Given the description of an element on the screen output the (x, y) to click on. 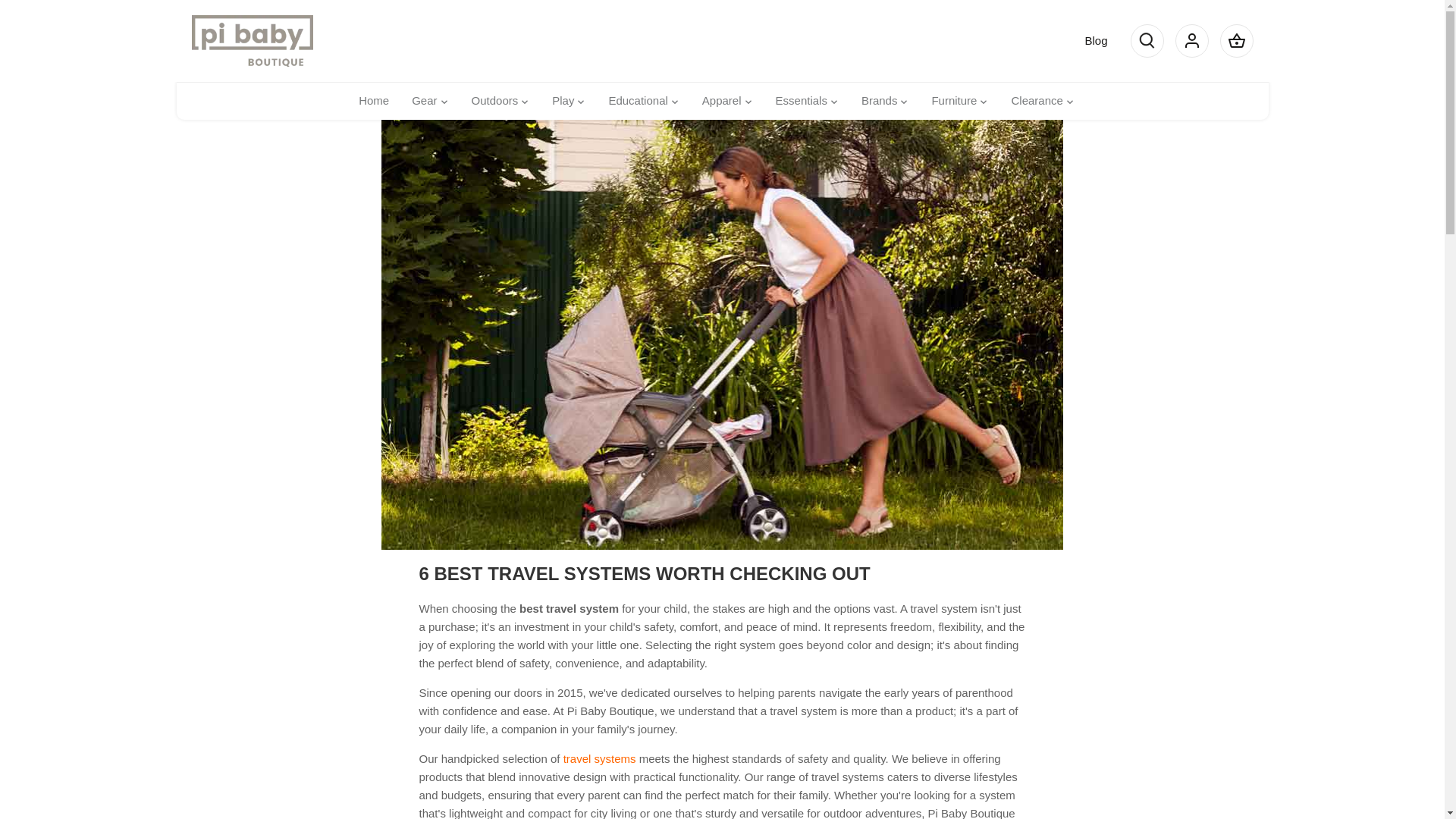
Blog (1095, 40)
Gear (424, 101)
Home (379, 101)
Outdoors (494, 101)
